Given the description of an element on the screen output the (x, y) to click on. 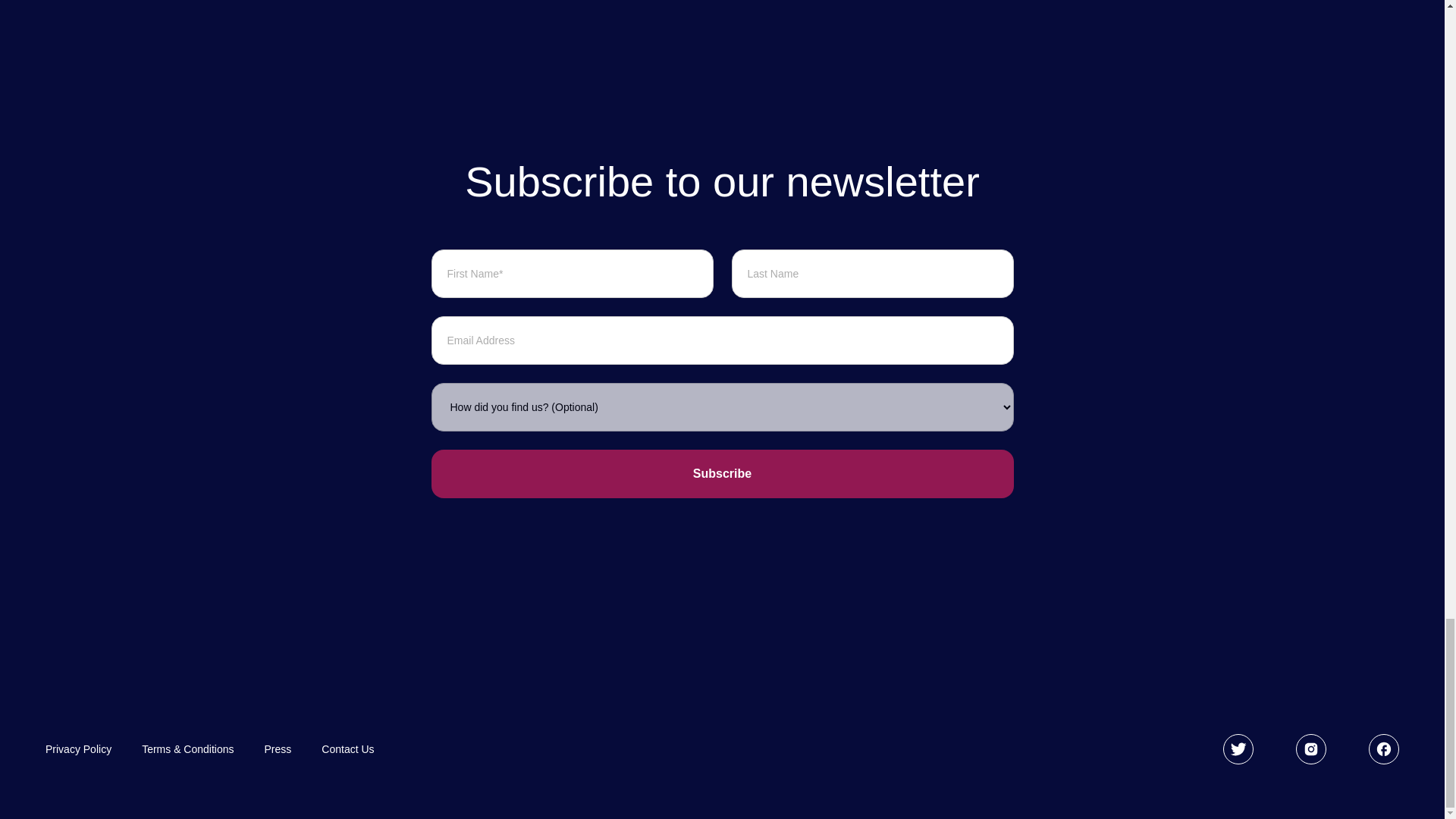
Contact Us (347, 749)
Subscribe (721, 473)
Subscribe (721, 473)
Privacy Policy (78, 749)
Press (278, 749)
